Given the description of an element on the screen output the (x, y) to click on. 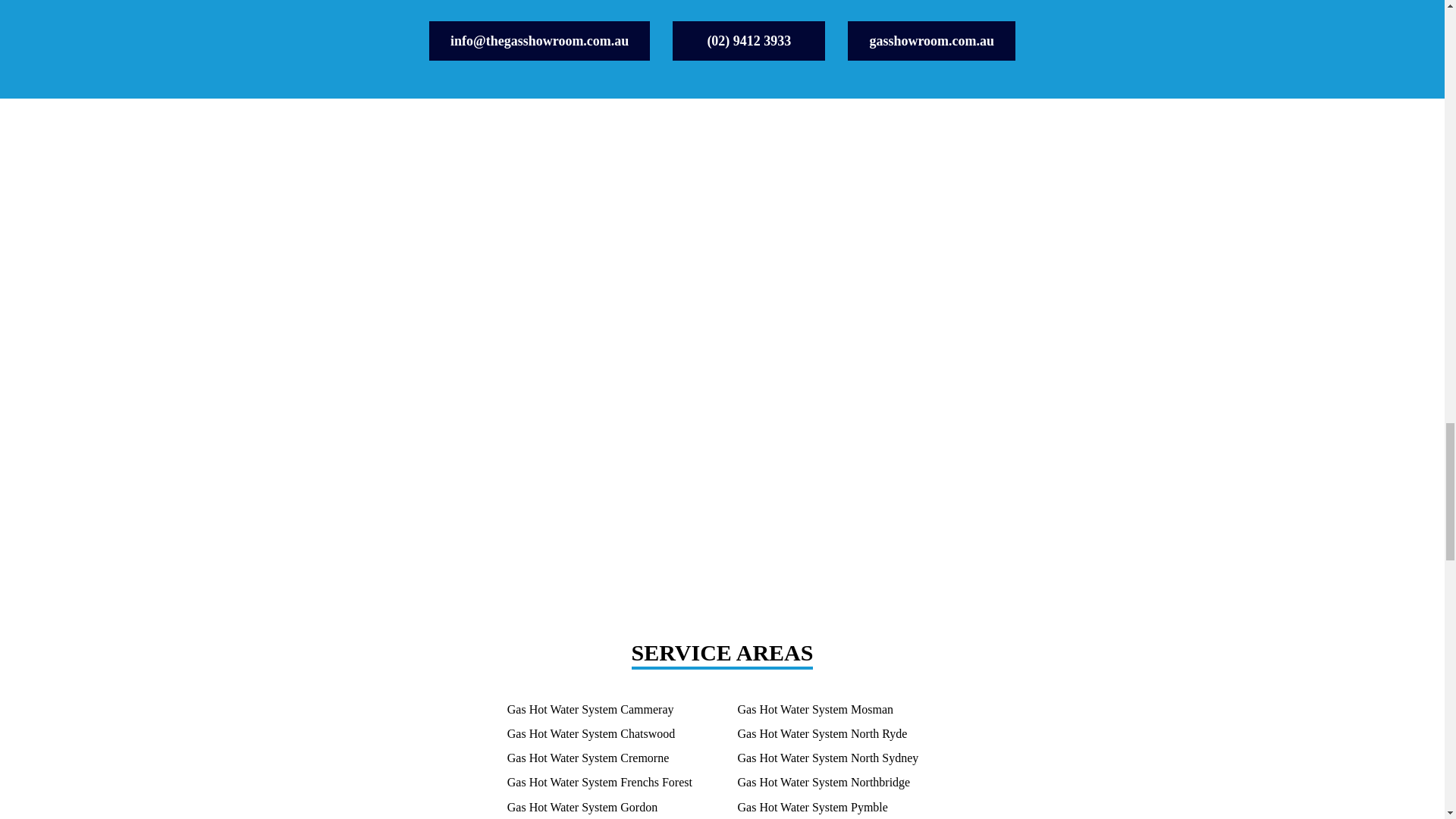
Gas Hot Water System Cremorne (587, 757)
Gas Hot Water System Gordon (582, 807)
Gas Hot Water System North Ryde (821, 733)
Gas Hot Water System Chatswood (590, 733)
Gas Hot Water System Pymble (811, 807)
Gas Hot Water System Frenchs Forest (599, 781)
gasshowroom.com.au (930, 41)
Gas Hot Water System Mosman (814, 708)
Gas Hot Water System Northbridge (823, 781)
Gas Hot Water System North Sydney (827, 757)
